Given the description of an element on the screen output the (x, y) to click on. 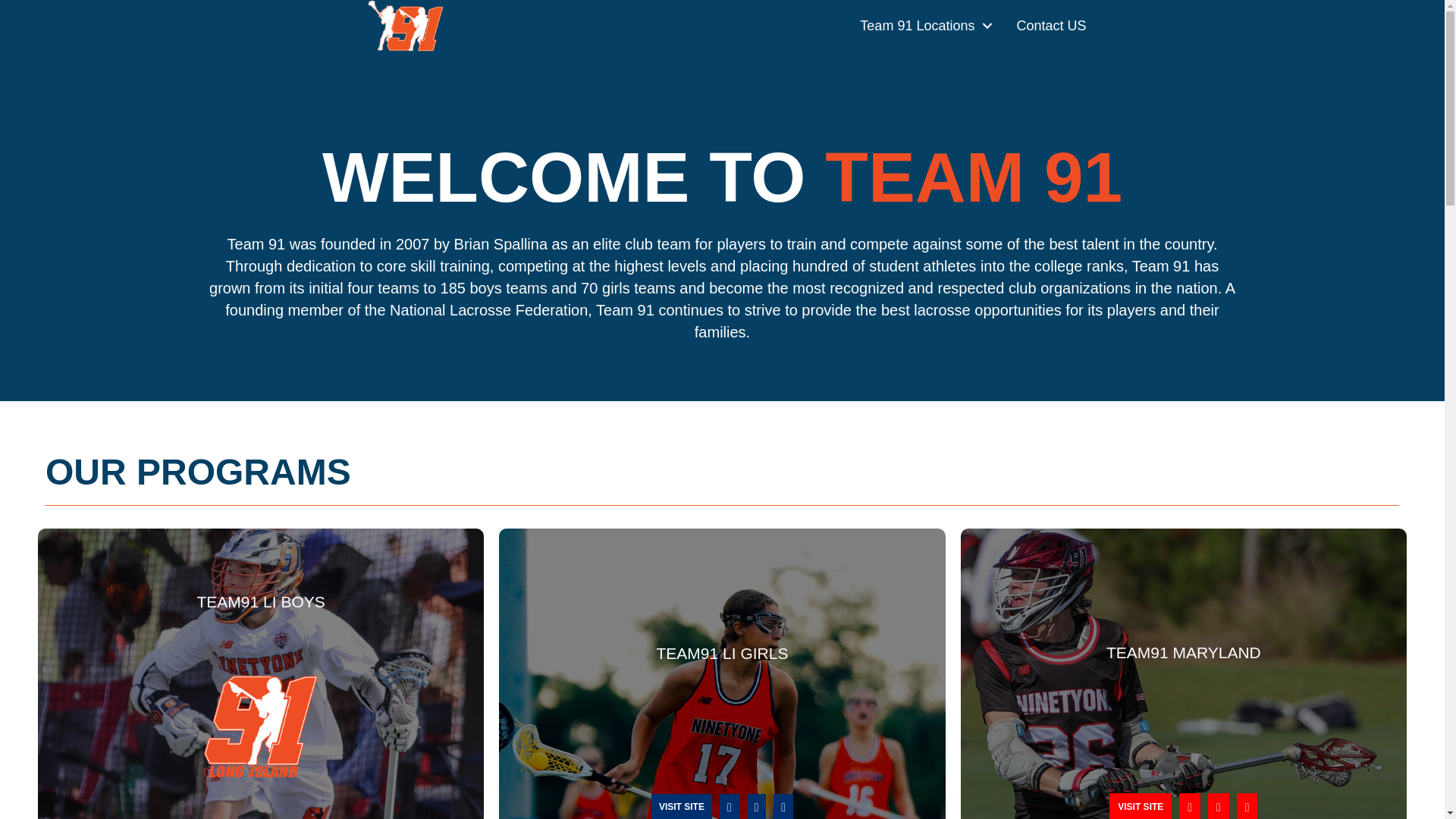
Contact US (1050, 25)
VISIT SITE (1140, 806)
BoysTeam91-LONGISLAND-400x400 (260, 725)
VISIT SITE (680, 806)
Team 91 Locations (922, 25)
